Given the description of an element on the screen output the (x, y) to click on. 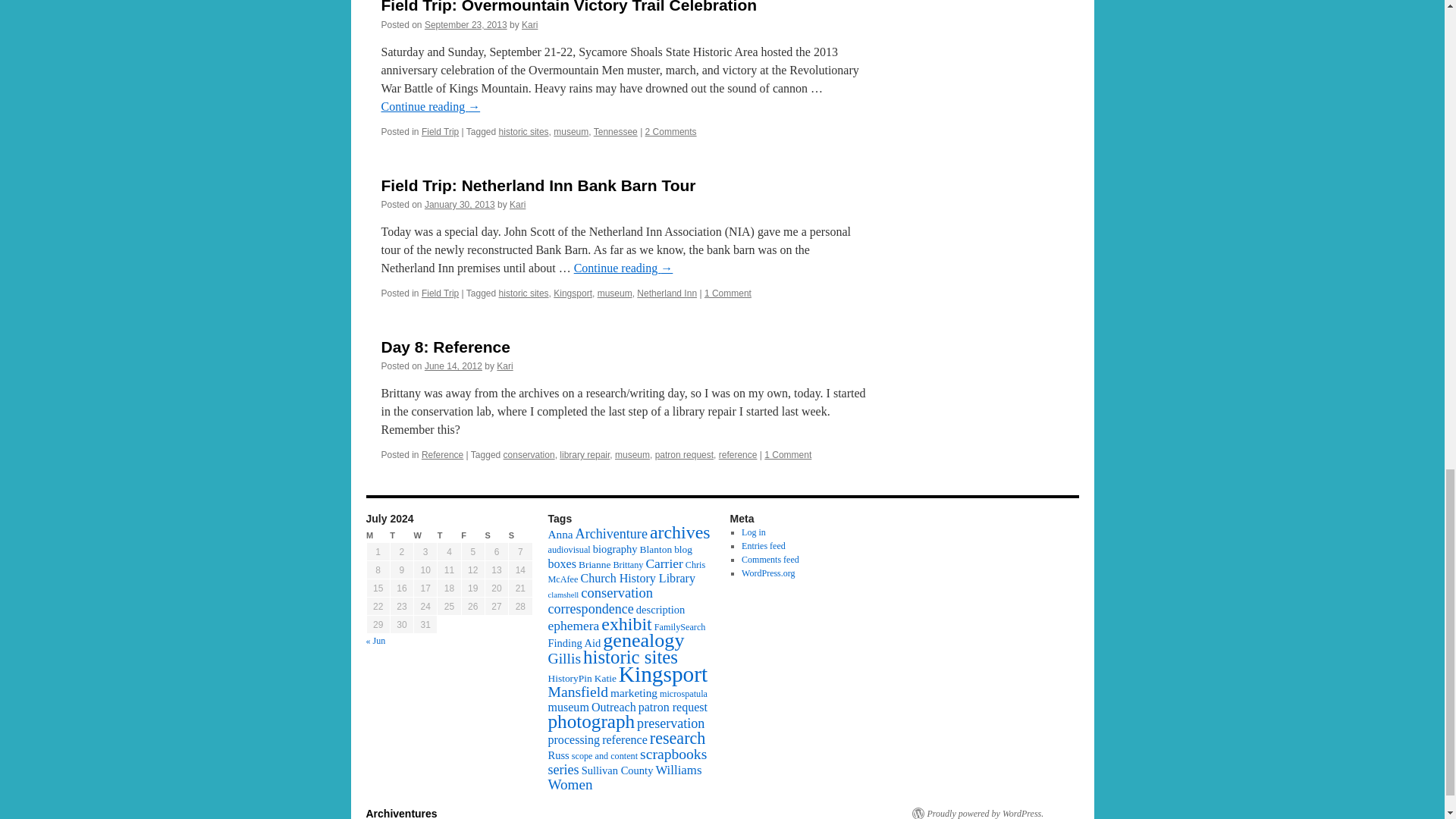
View all posts by Kari (529, 24)
8:08 am (465, 24)
View all posts by Kari (517, 204)
9:34 pm (460, 204)
